Given the description of an element on the screen output the (x, y) to click on. 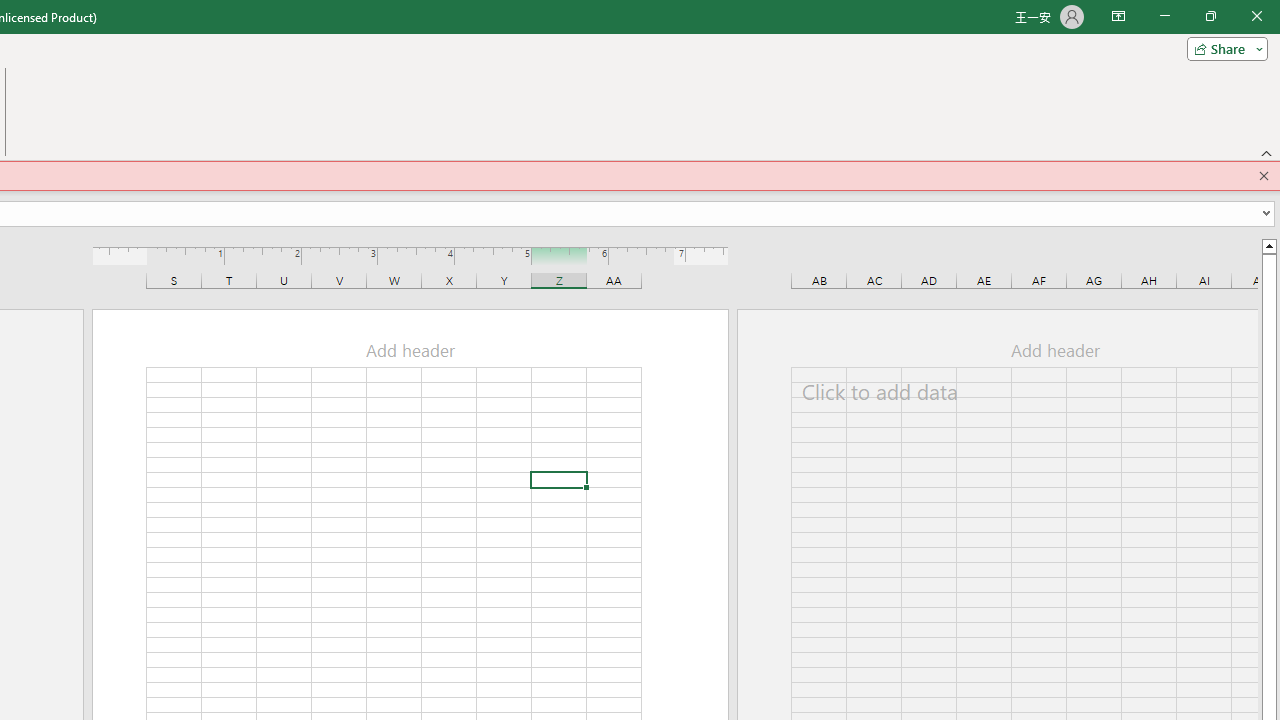
Close this message (1263, 176)
